Given the description of an element on the screen output the (x, y) to click on. 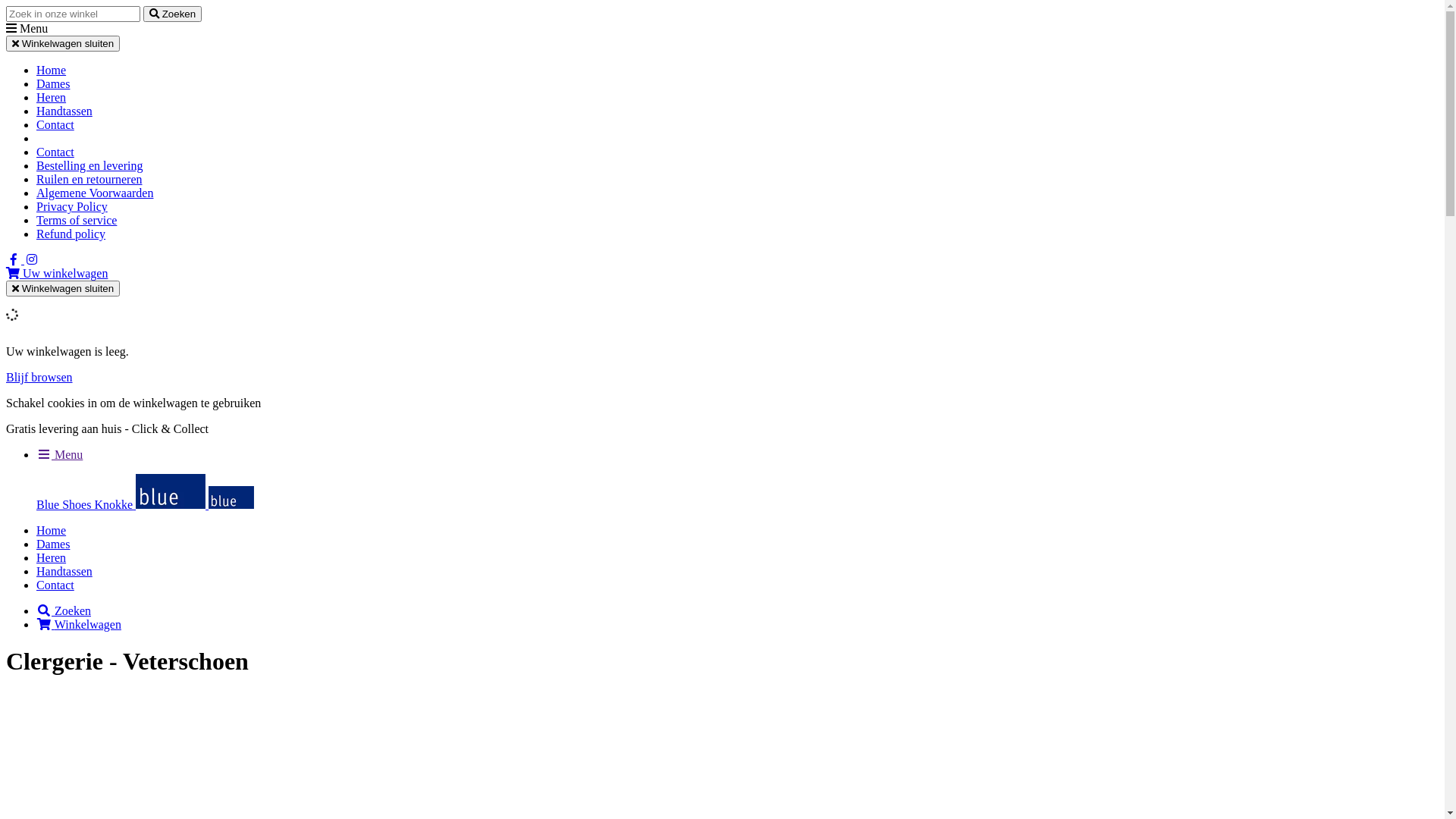
Menu Element type: text (59, 454)
Blue Shoes Knokke Element type: text (145, 504)
Ruilen en retourneren Element type: text (89, 178)
Winkelwagen sluiten Element type: text (62, 43)
Contact Element type: text (55, 151)
Dames Element type: text (52, 543)
Bestelling en levering Element type: text (89, 165)
Contact Element type: text (55, 584)
Uw winkelwagen Element type: text (56, 272)
Heren Element type: text (50, 557)
Winkelwagen Element type: text (78, 624)
Blue Shoes Knokke op Instagram Element type: hover (31, 259)
Contact Element type: text (55, 124)
Blue Shoes Knokke op Facebook Element type: hover (15, 259)
Zoeken Element type: text (172, 13)
Privacy Policy Element type: text (71, 206)
Zoeken Element type: text (63, 610)
Algemene Voorwaarden Element type: text (94, 192)
Handtassen Element type: text (64, 110)
Heren Element type: text (50, 97)
Blijf browsen Element type: text (39, 376)
Refund policy Element type: text (70, 233)
Home Element type: text (50, 69)
Dames Element type: text (52, 83)
Terms of service Element type: text (76, 219)
Handtassen Element type: text (64, 570)
Winkelwagen sluiten Element type: text (62, 288)
Home Element type: text (50, 530)
